Given the description of an element on the screen output the (x, y) to click on. 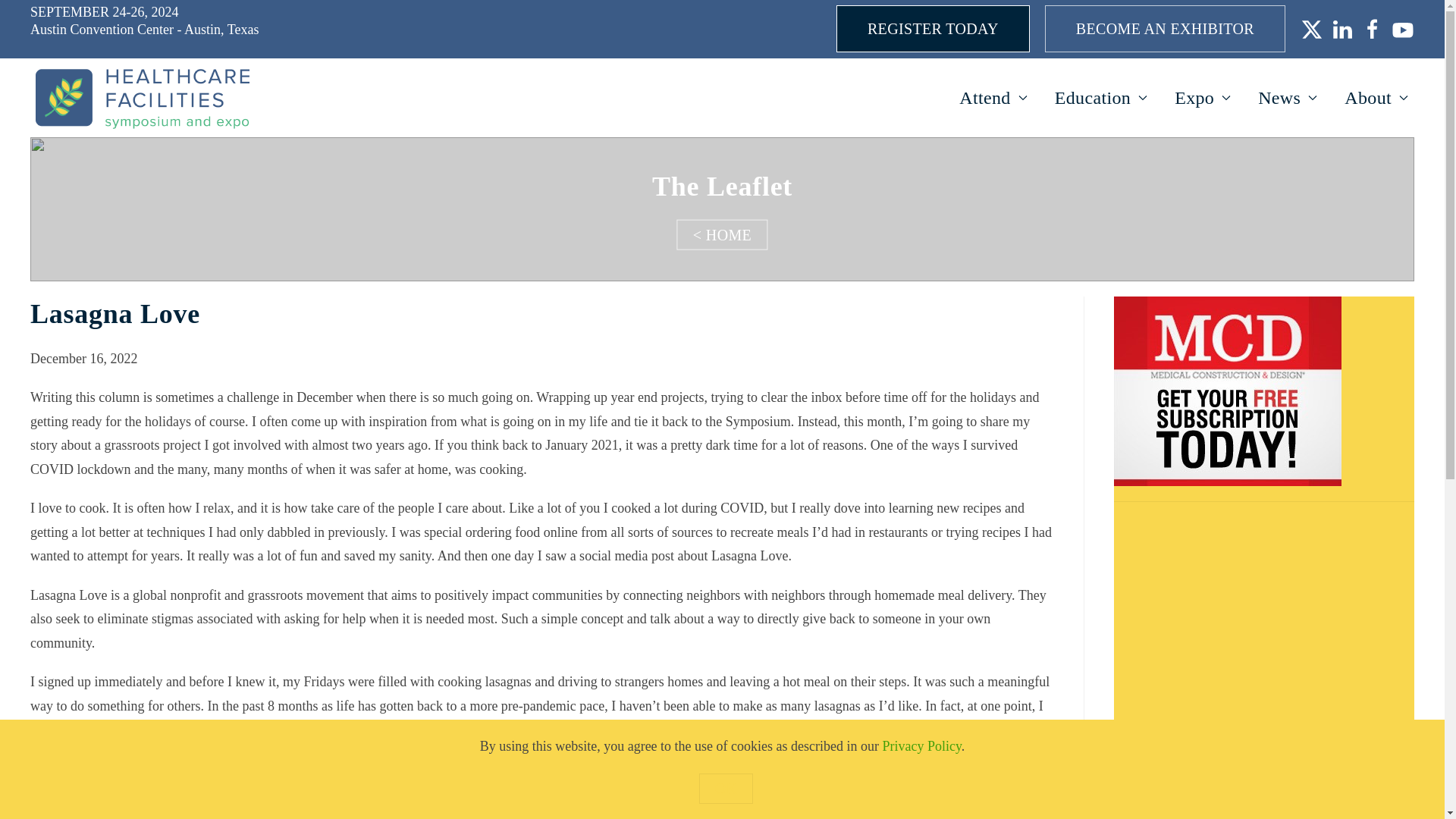
Education (1100, 97)
Expo (1202, 97)
REGISTER TODAY (932, 28)
Attend (992, 97)
BECOME AN EXHIBITOR (1165, 28)
News (1287, 97)
